Given the description of an element on the screen output the (x, y) to click on. 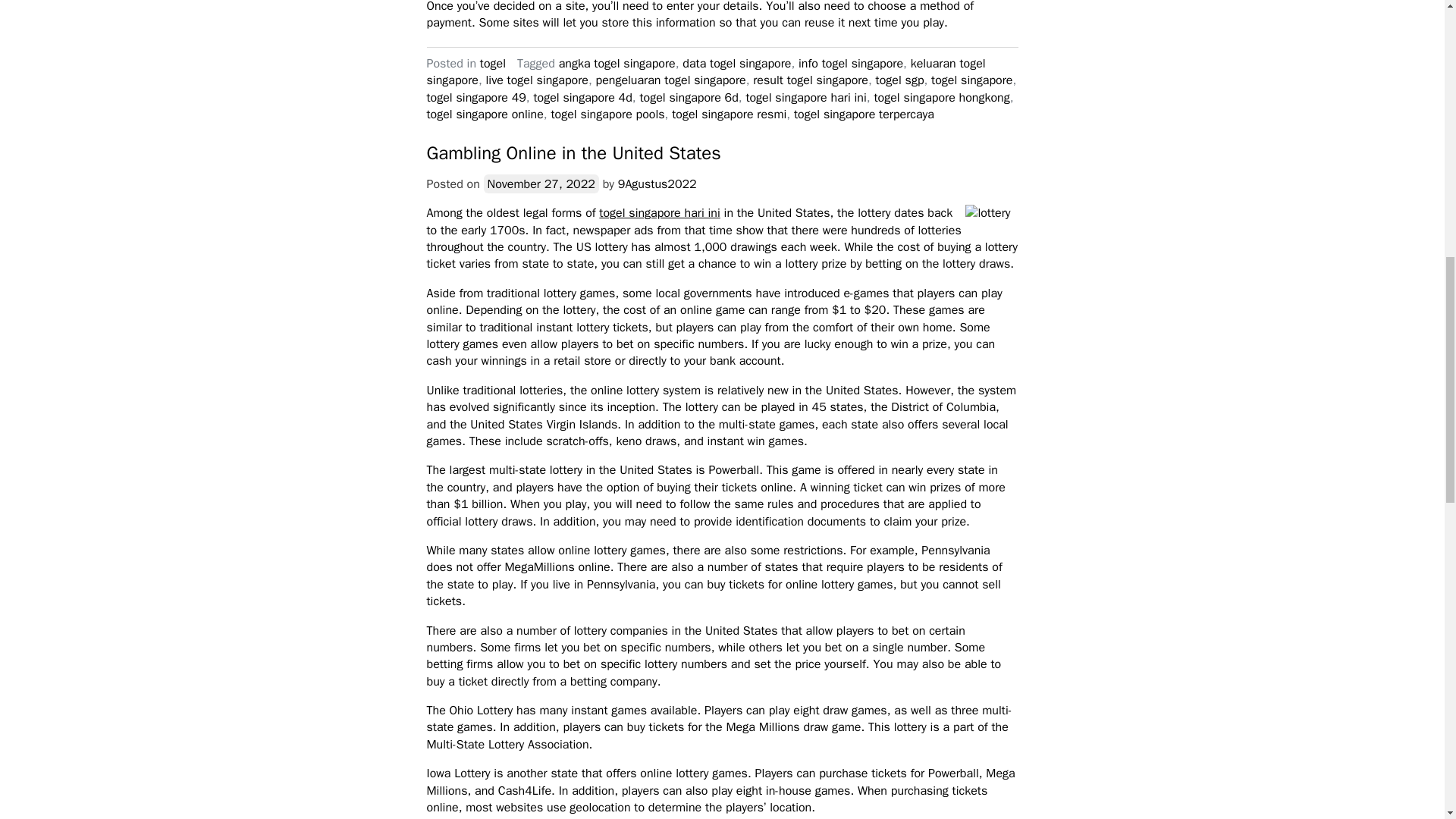
togel singapore 49 (475, 97)
November 27, 2022 (540, 183)
togel singapore online (484, 114)
live togel singapore (536, 79)
togel (492, 63)
